Given the description of an element on the screen output the (x, y) to click on. 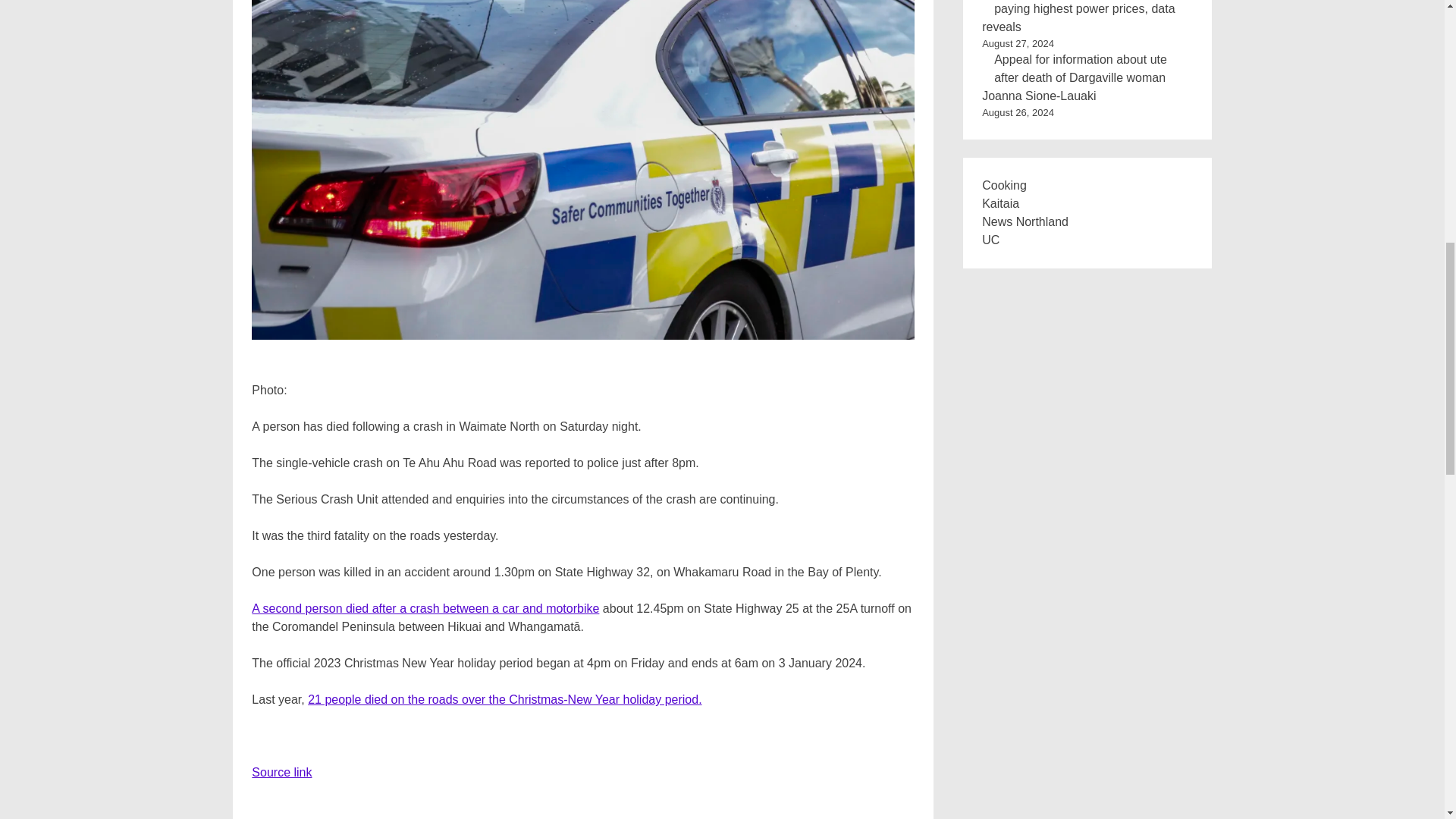
Source link (281, 771)
